Given the description of an element on the screen output the (x, y) to click on. 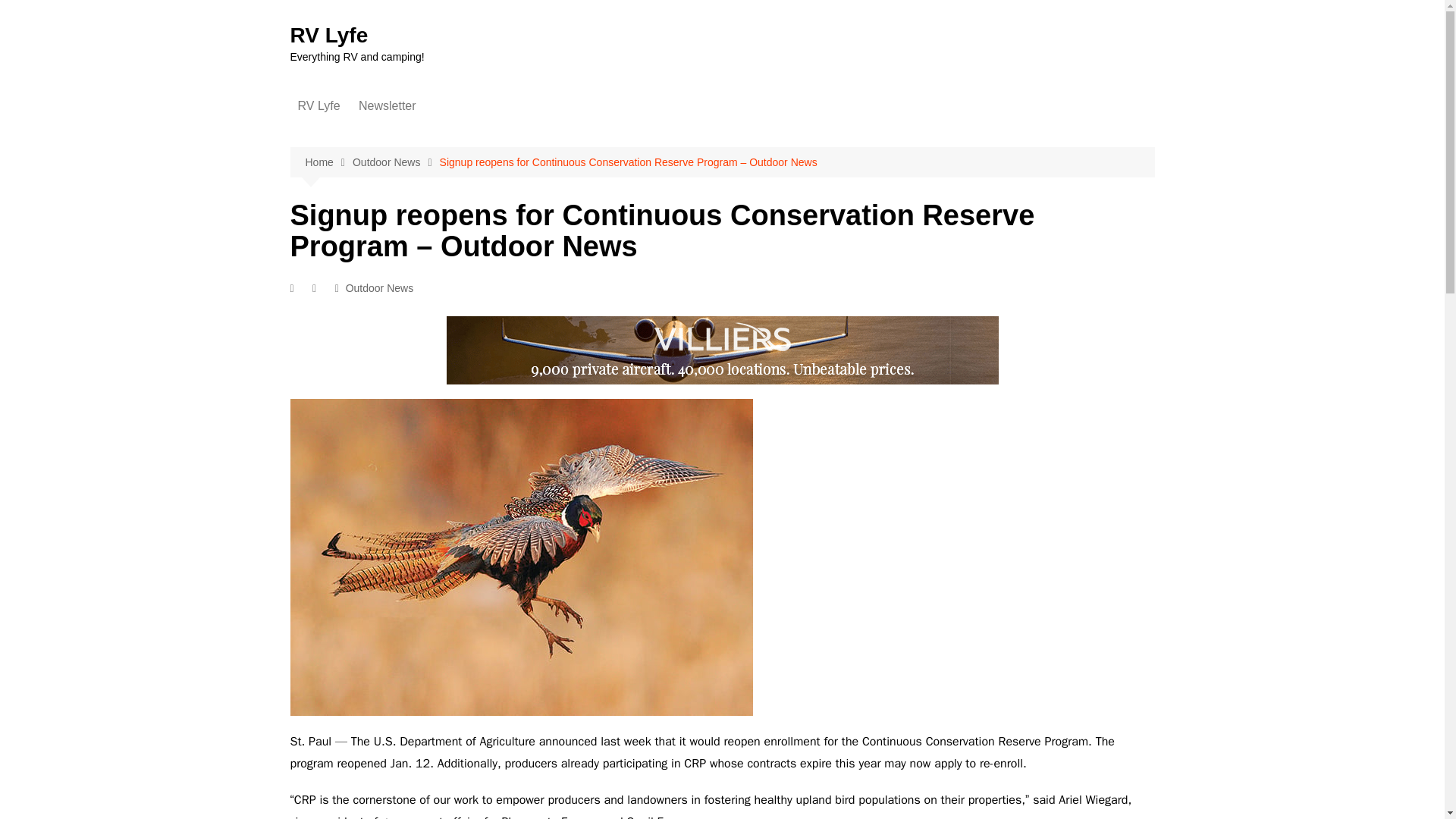
Outdoor News (395, 162)
Outdoor News (379, 288)
RV Lyfe (318, 105)
Newsletter (386, 105)
RV Lyfe (328, 34)
Home (328, 162)
